Given the description of an element on the screen output the (x, y) to click on. 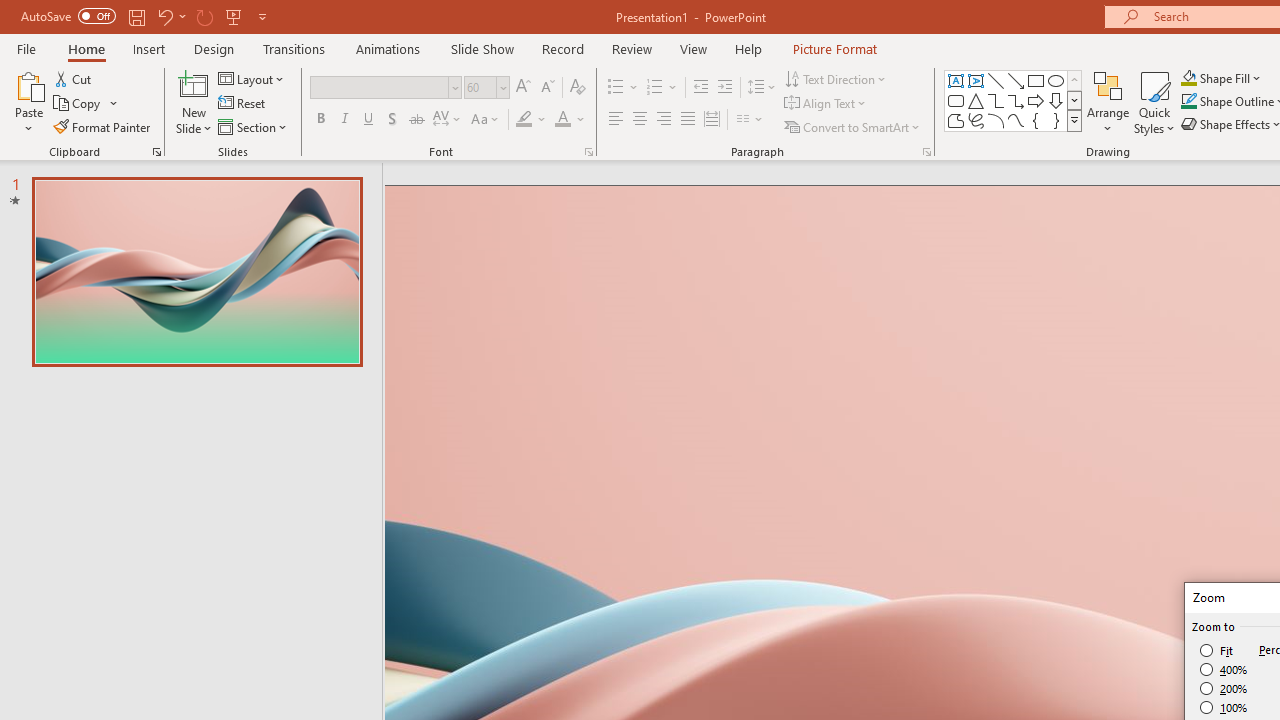
Picture Format (834, 48)
200% (1224, 688)
